Given the description of an element on the screen output the (x, y) to click on. 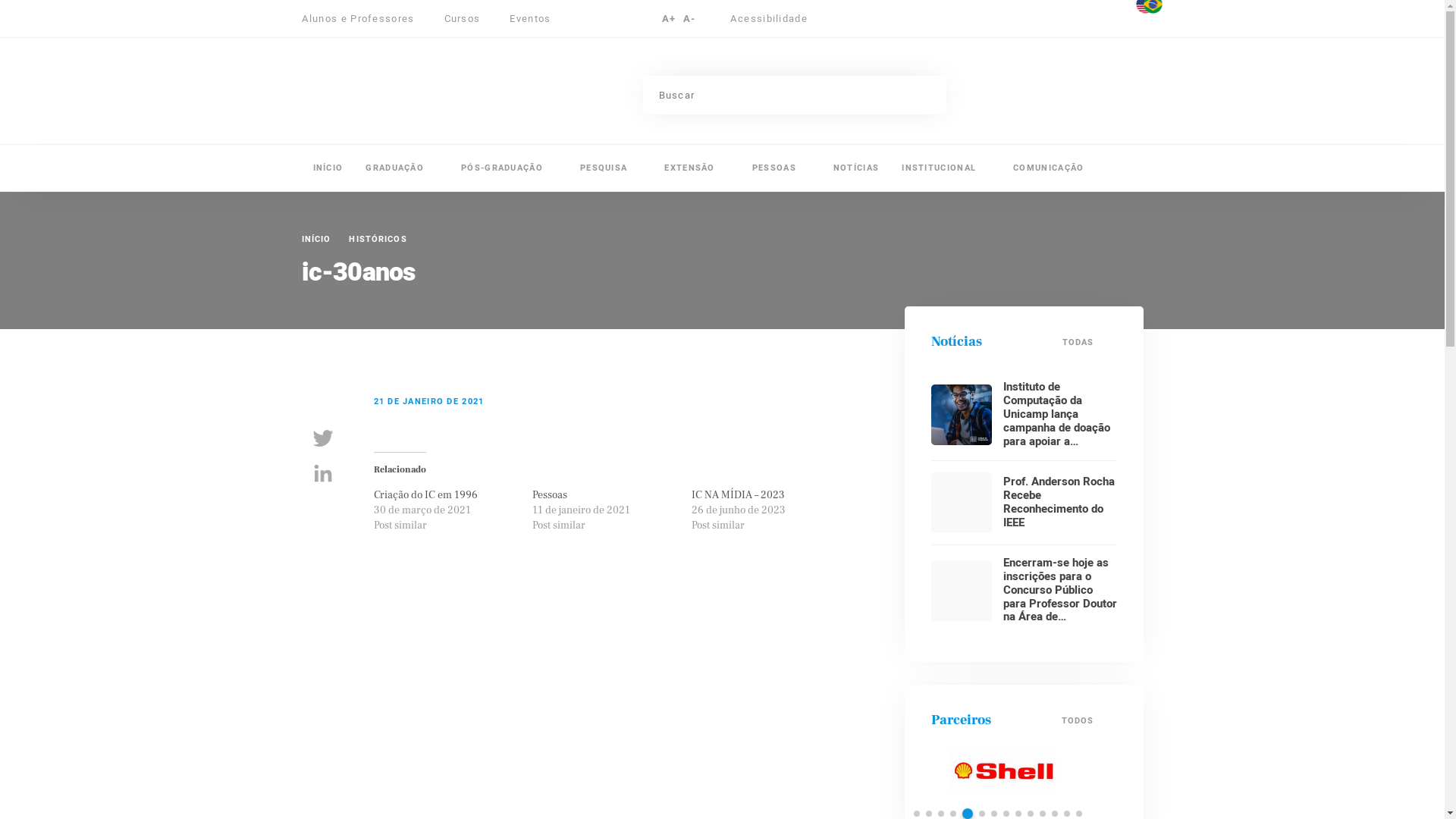
Compartilhar no Twitter Element type: hover (322, 437)
TODAS Element type: text (1089, 341)
Prof. Anderson Rocha Recebe Reconhecimento do IEEE Element type: hover (961, 502)
LinkedIn Element type: text (988, 20)
PESSOAS Element type: text (781, 167)
Prof. Anderson Rocha Recebe Reconhecimento do IEEE Element type: text (1057, 501)
Banco Santander Element type: text (1000, 770)
Alunos e Professores Element type: text (365, 18)
Compartilhar no Linkedin Element type: hover (322, 472)
Compartilhar no Facebook Element type: hover (322, 403)
Pessoas Element type: text (549, 495)
Cursos Element type: text (469, 18)
Unicamp - Universidade Estadual de Campinas Element type: text (1114, 89)
INSTITUCIONAL Element type: text (945, 167)
TODOS Element type: text (1089, 720)
Instagram Element type: text (959, 20)
PESQUISA Element type: text (610, 167)
Compartilhar por E-mail Element type: hover (322, 507)
Eventos Element type: text (529, 18)
Facebook Element type: text (929, 20)
